Given the description of an element on the screen output the (x, y) to click on. 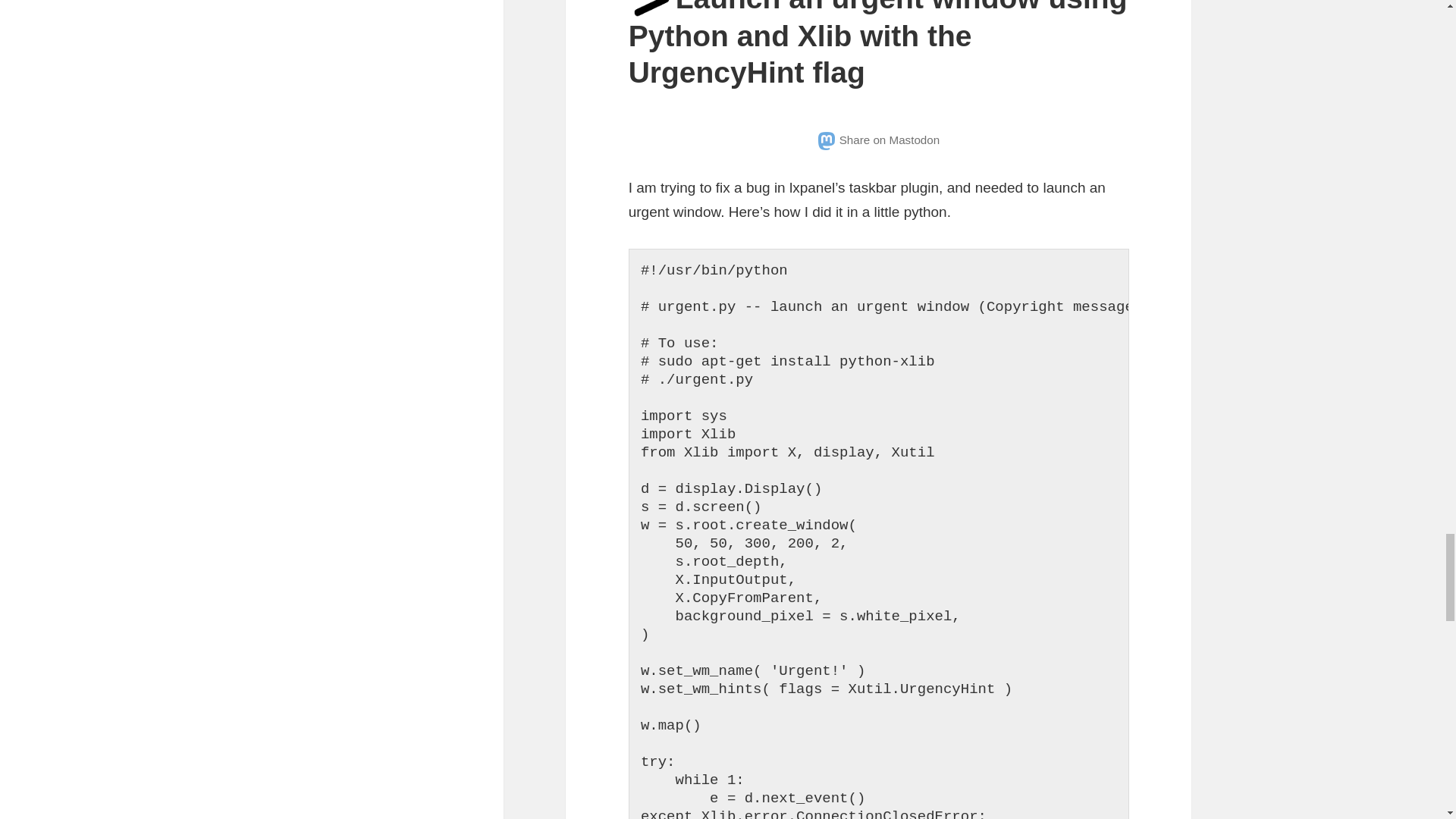
Toot on Mastodon (877, 139)
